Given the description of an element on the screen output the (x, y) to click on. 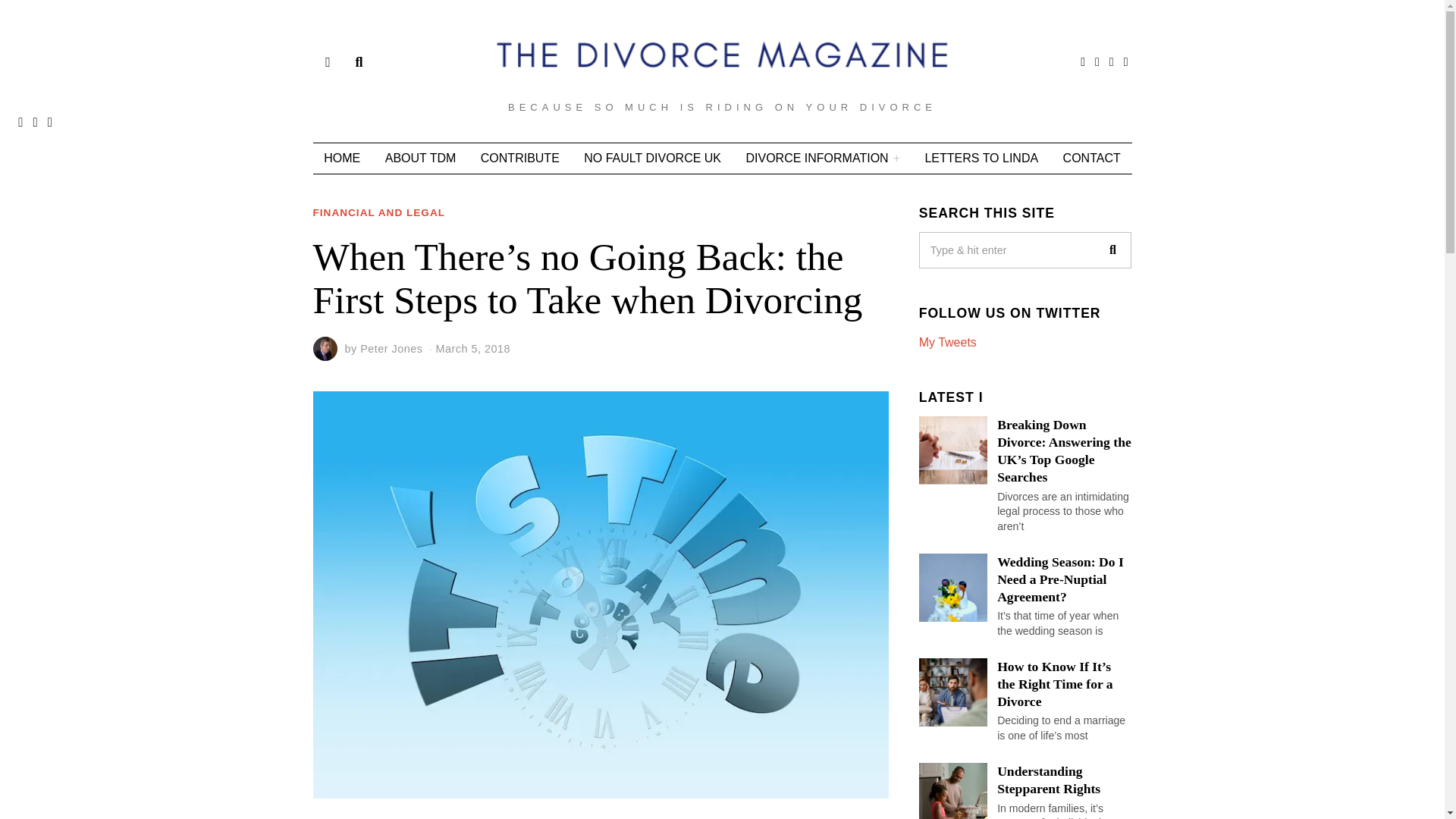
CONTACT (1091, 158)
HOME (342, 158)
NO FAULT DIVORCE UK (652, 158)
ABOUT TDM (420, 158)
DIVORCE INFORMATION (823, 158)
CONTRIBUTE (520, 158)
LETTERS TO LINDA (981, 158)
Peter Jones (390, 348)
FINANCIAL AND LEGAL (379, 213)
